Given the description of an element on the screen output the (x, y) to click on. 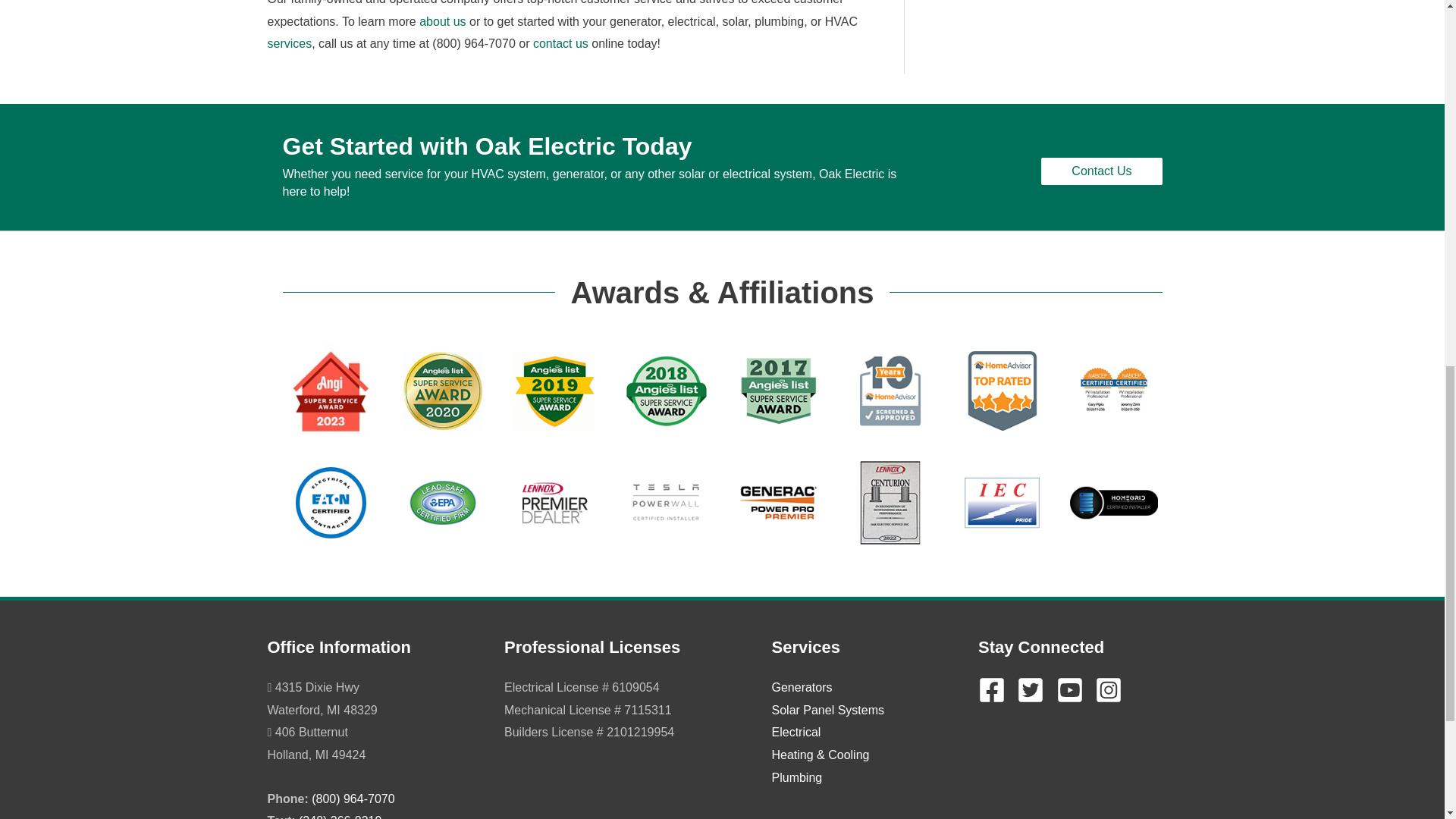
eaton-certified (330, 502)
New-lennox-logo (555, 502)
Click Here (1101, 171)
NABCEP (1113, 391)
Angies-List-2018 (665, 391)
Angies-List-2017 (778, 391)
Angies-List-2020 (443, 391)
10year-solid-border (890, 391)
lead-safe-certified-firm (443, 502)
angi-2023 (330, 391)
Angies-List-2019 (555, 391)
